Given the description of an element on the screen output the (x, y) to click on. 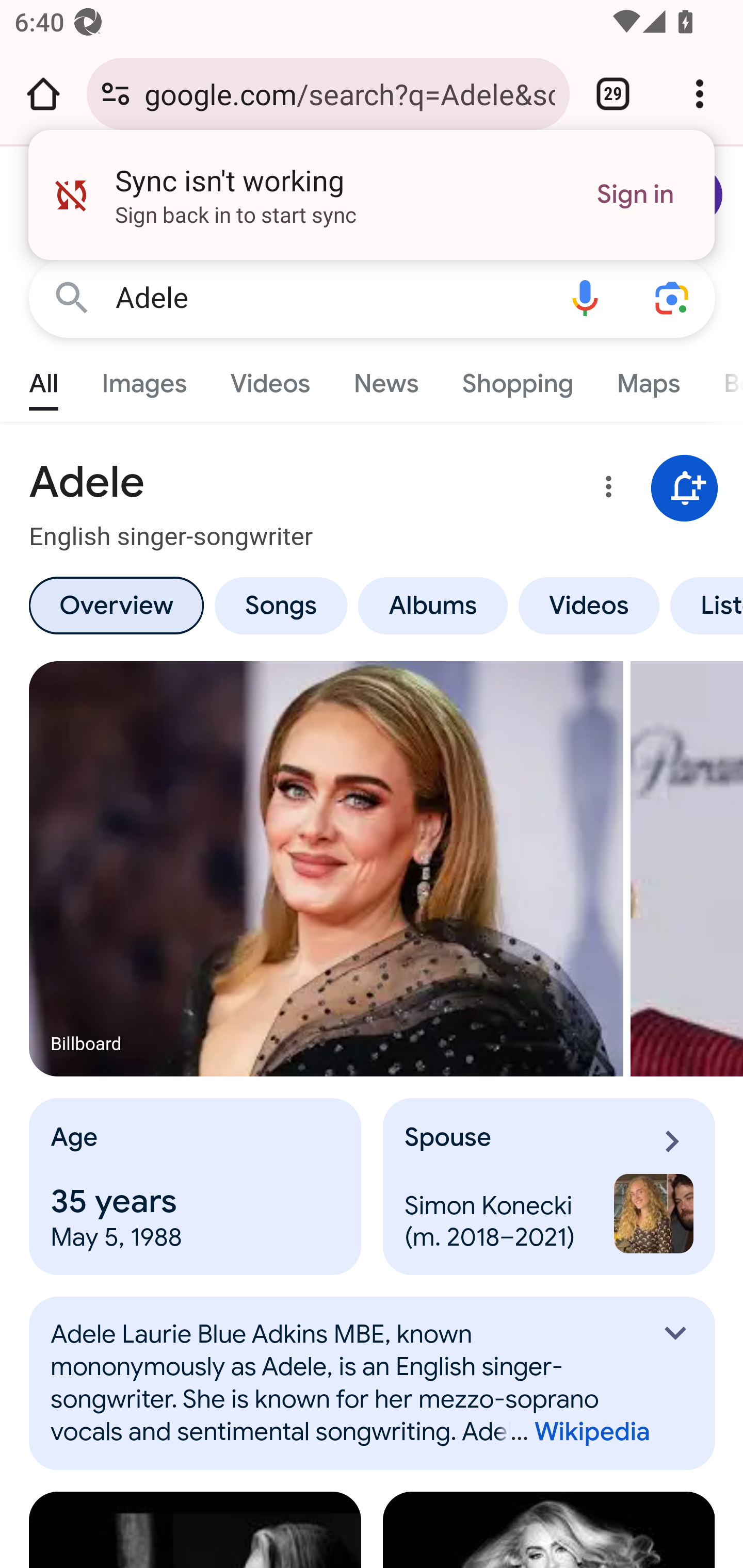
Open the home page (43, 93)
Connection is secure (115, 93)
Switch or close tabs (612, 93)
Customize and control Google Chrome (699, 93)
Google Search (71, 296)
Search using your camera or photos (672, 296)
Adele (328, 297)
Images (144, 378)
Videos (270, 378)
News (385, 378)
Shopping (516, 378)
Maps (647, 378)
Get notifications about Adele (684, 489)
More options (605, 489)
Overview (116, 605)
Songs (280, 605)
Albums (433, 605)
Videos (589, 605)
Age 35 years May 5, 1988 Age 35 years May 5, 1988 (195, 1186)
Wikipedia (572, 1431)
